Given the description of an element on the screen output the (x, y) to click on. 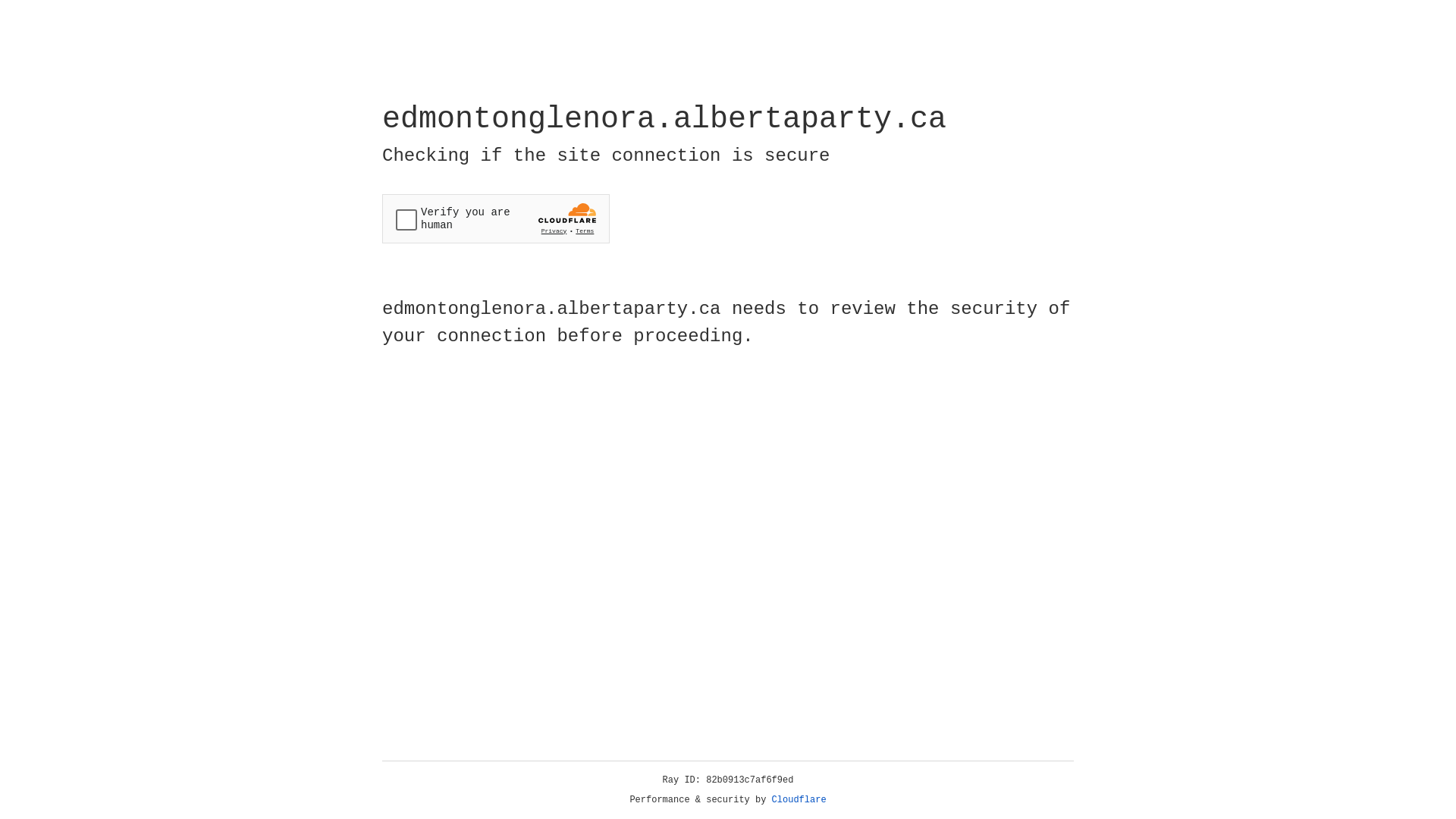
Cloudflare Element type: text (798, 799)
Widget containing a Cloudflare security challenge Element type: hover (495, 218)
